Given the description of an element on the screen output the (x, y) to click on. 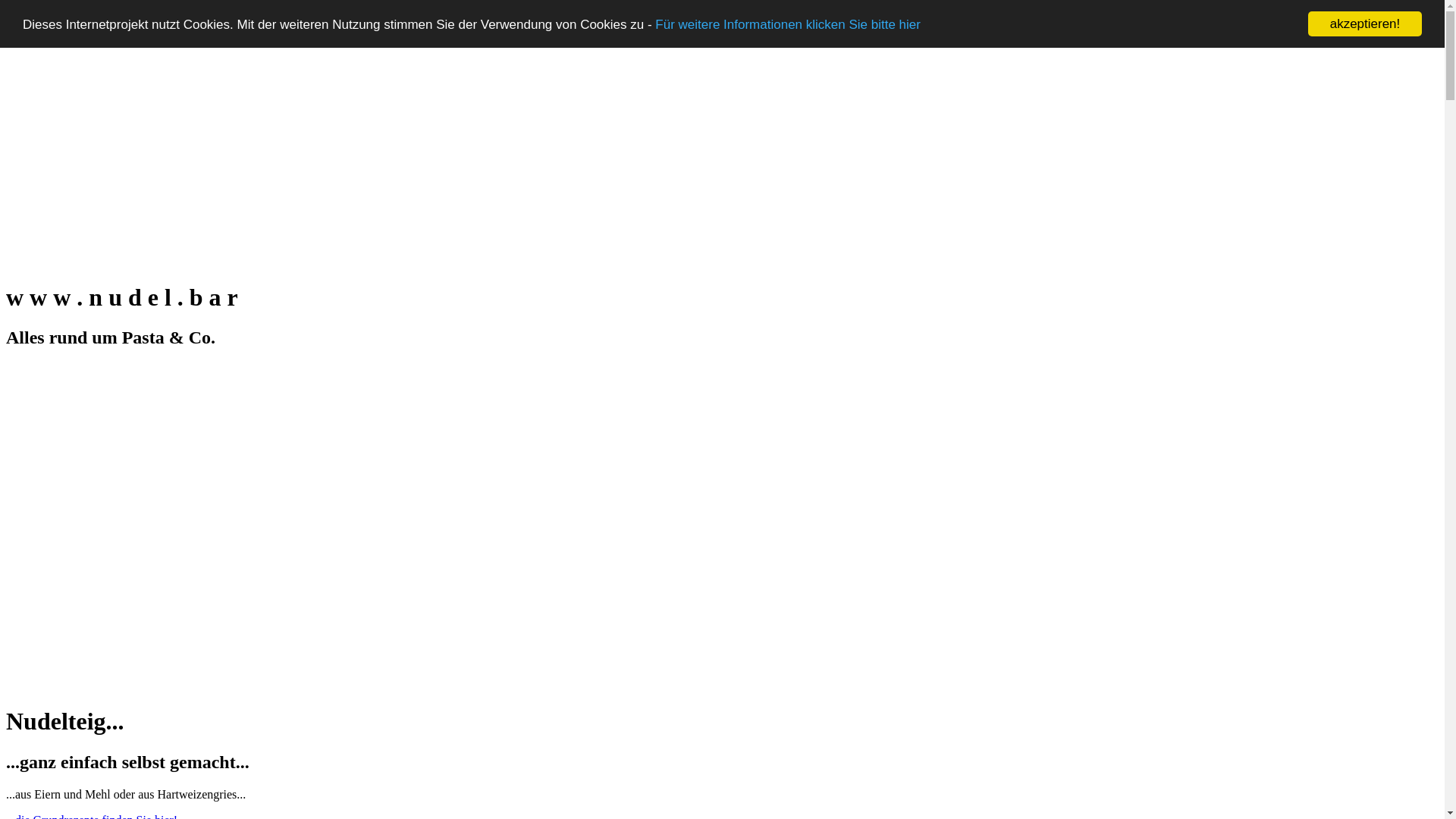
akzeptieren! Element type: text (1364, 23)
